Given the description of an element on the screen output the (x, y) to click on. 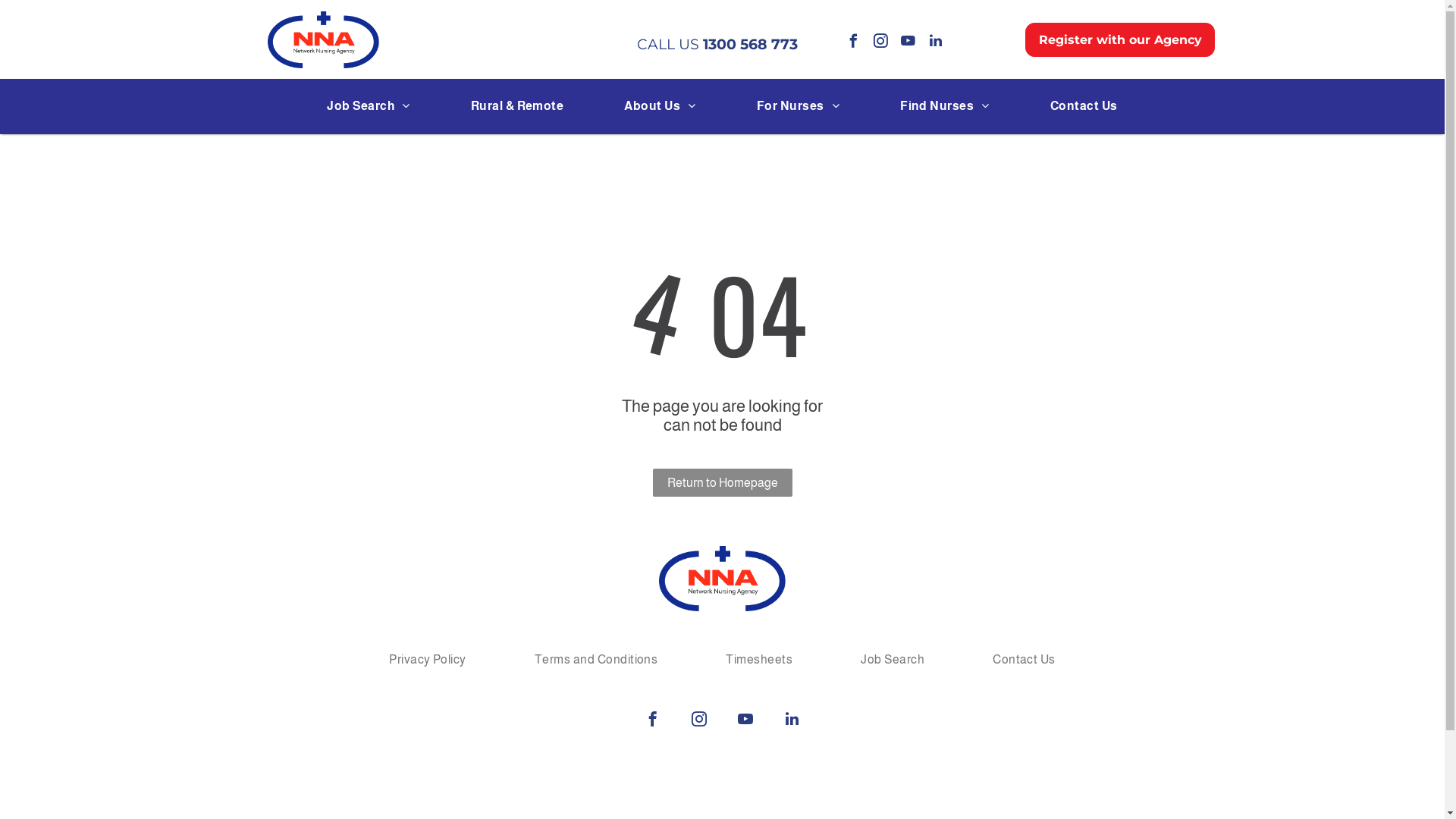
Job Search Element type: text (892, 658)
Contact Us Element type: text (1083, 105)
Timesheets Element type: text (758, 658)
Find Nurses Element type: text (944, 105)
1300 568 773 Element type: text (749, 44)
Terms and Conditions Element type: text (596, 658)
For Nurses Element type: text (797, 105)
About Us Element type: text (659, 105)
Return to Homepage Element type: text (721, 482)
Job Search Element type: text (367, 105)
Contact Us Element type: text (1023, 658)
Register with our Agency Element type: text (1119, 39)
Rural & Remote Element type: text (517, 105)
Privacy Policy Element type: text (427, 658)
